Given the description of an element on the screen output the (x, y) to click on. 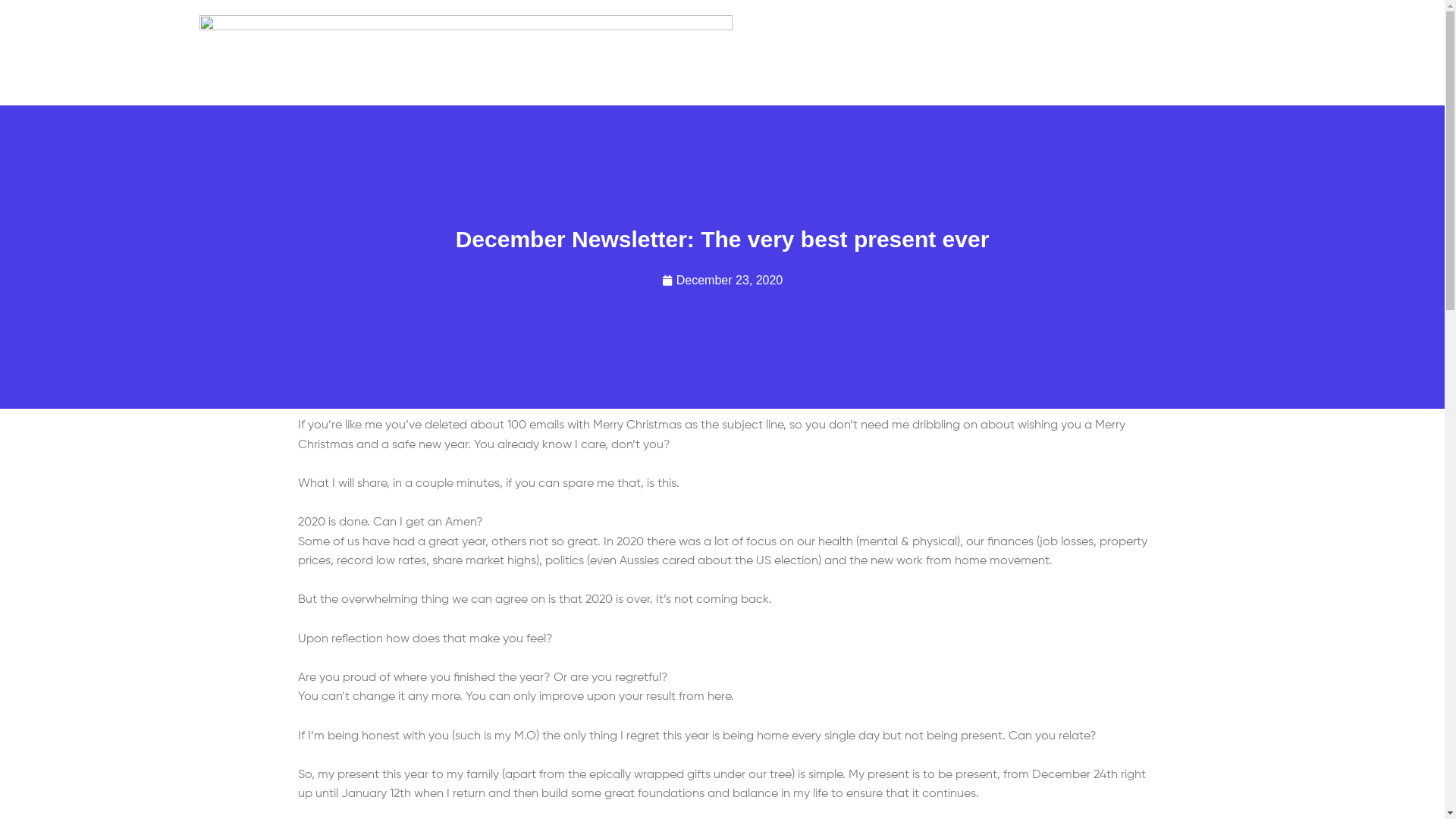
Blog Element type: text (793, 97)
Contact Element type: text (874, 97)
Services Element type: text (713, 97)
About Element type: text (627, 97)
Home Element type: text (549, 97)
December 23, 2020 Element type: text (722, 280)
